Given the description of an element on the screen output the (x, y) to click on. 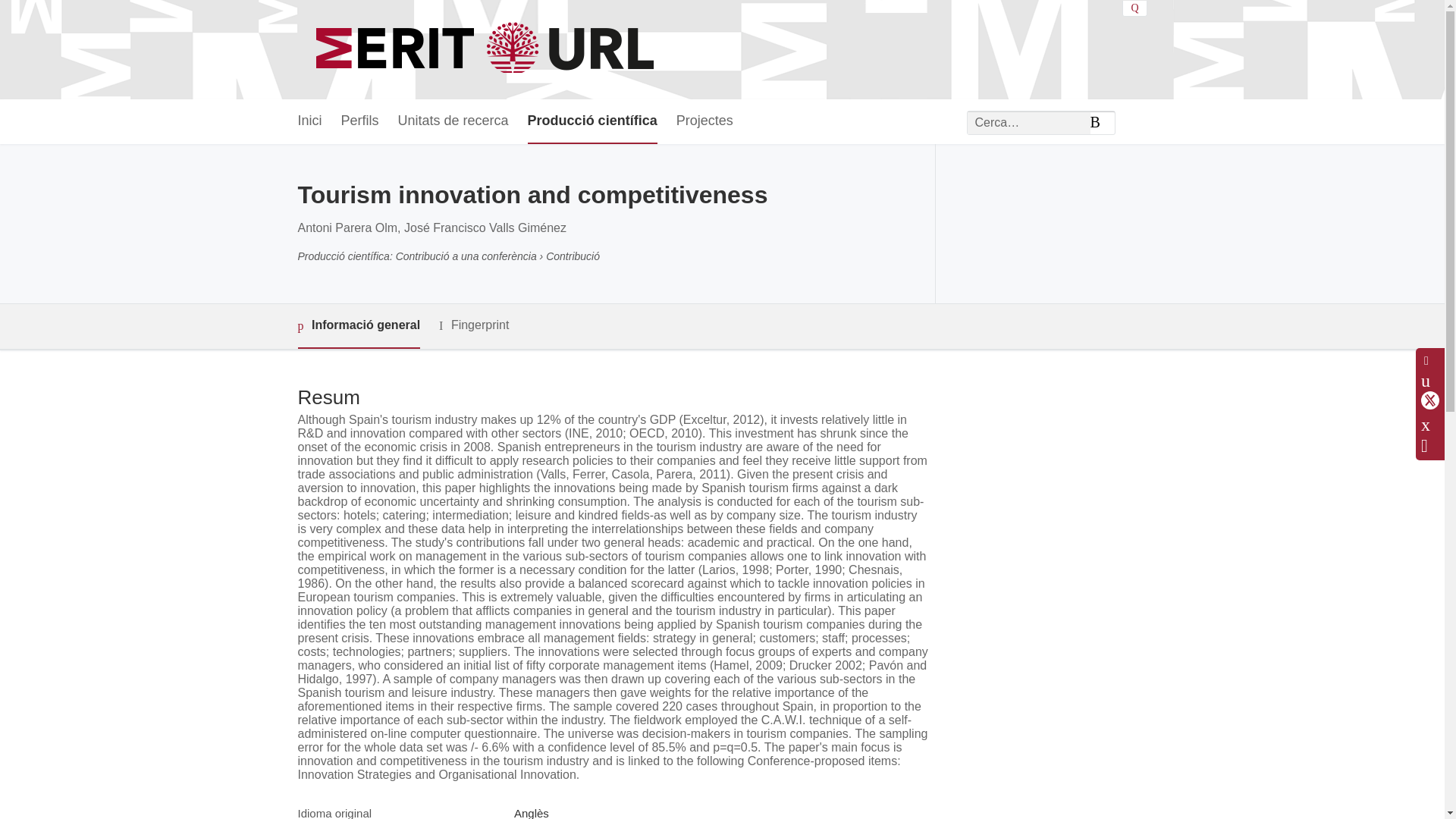
Projectes (705, 121)
Universitat Ramon Llull Inici (487, 49)
Unitats de recerca (452, 121)
Fingerprint (473, 325)
